Given the description of an element on the screen output the (x, y) to click on. 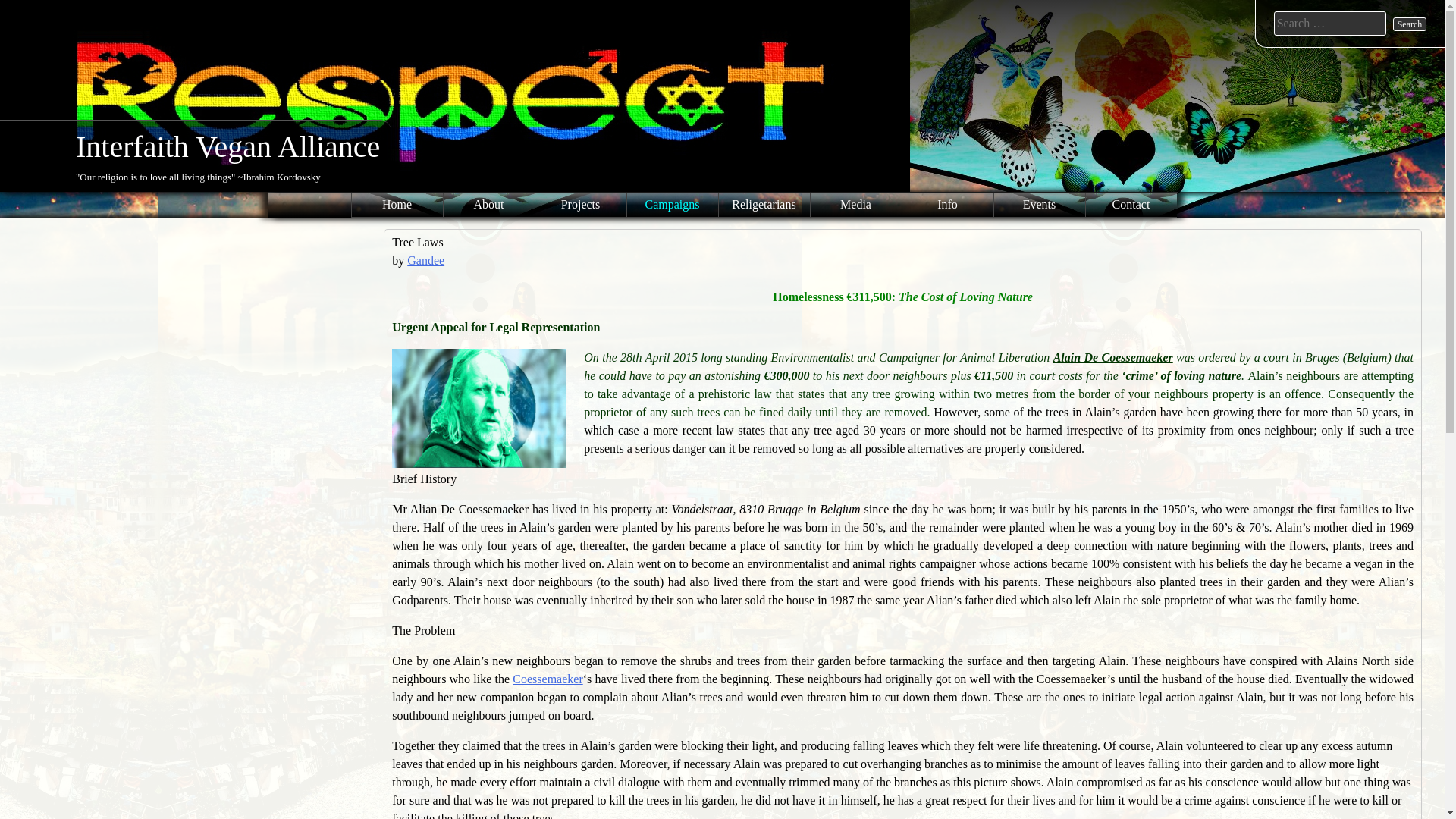
Search (1409, 24)
Interfaith Vegan Alliance (227, 145)
Home (397, 204)
Home sweet home! (397, 204)
Search (1409, 24)
About (488, 204)
Campaigns (671, 204)
Interfaith Vegan Alliance (227, 145)
Projects (580, 204)
